Given the description of an element on the screen output the (x, y) to click on. 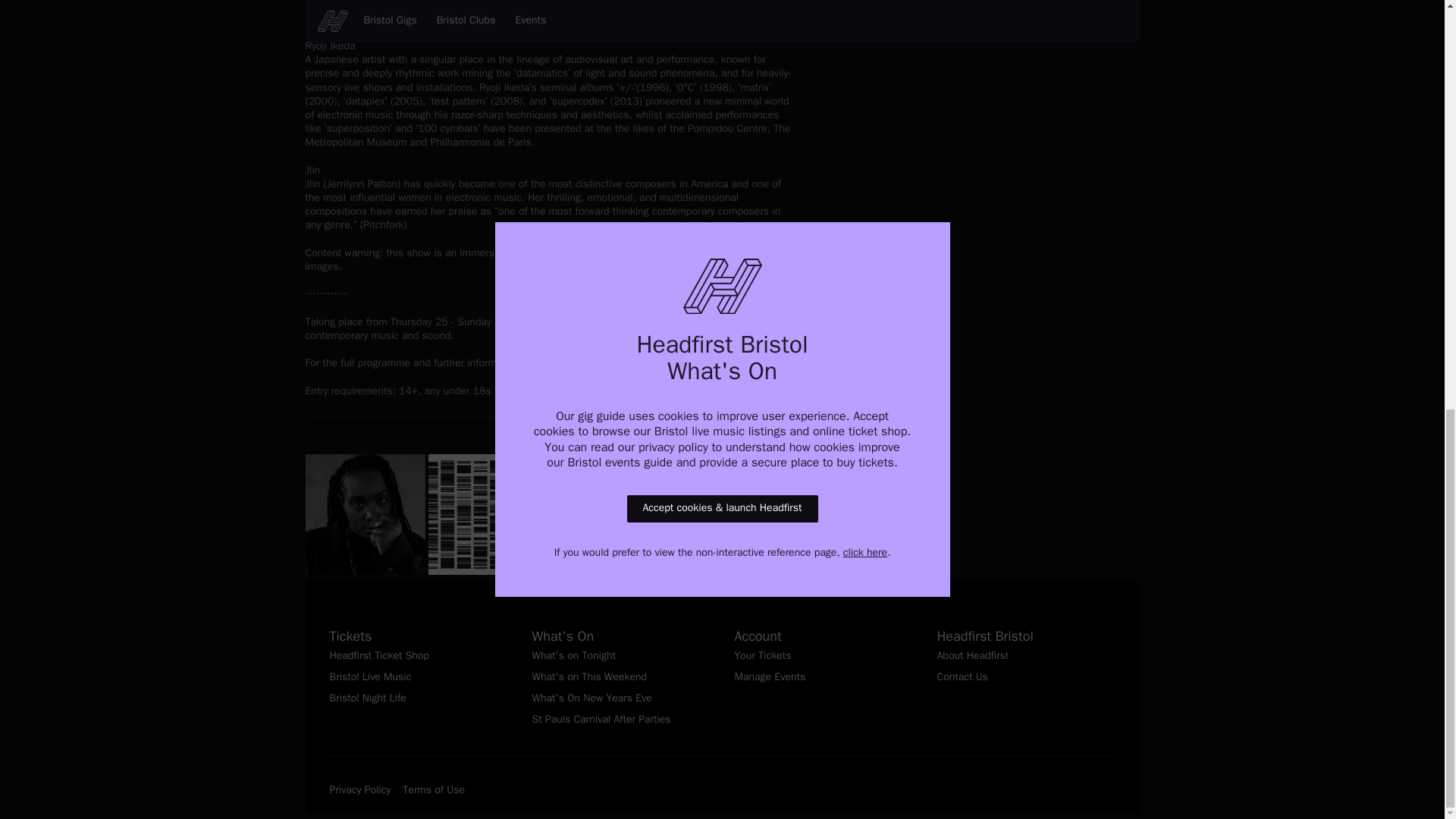
What's on This Weekend (621, 677)
Headfirst Ticket Shop (417, 656)
Bristol Live Music (417, 677)
What's On New Years Eve (621, 699)
Manage Events (822, 677)
About Headfirst (1026, 656)
Terms of Use (433, 790)
Privacy Policy (359, 790)
www.bristolnewmusic.org (606, 363)
Bristol Night Life (417, 699)
